Given the description of an element on the screen output the (x, y) to click on. 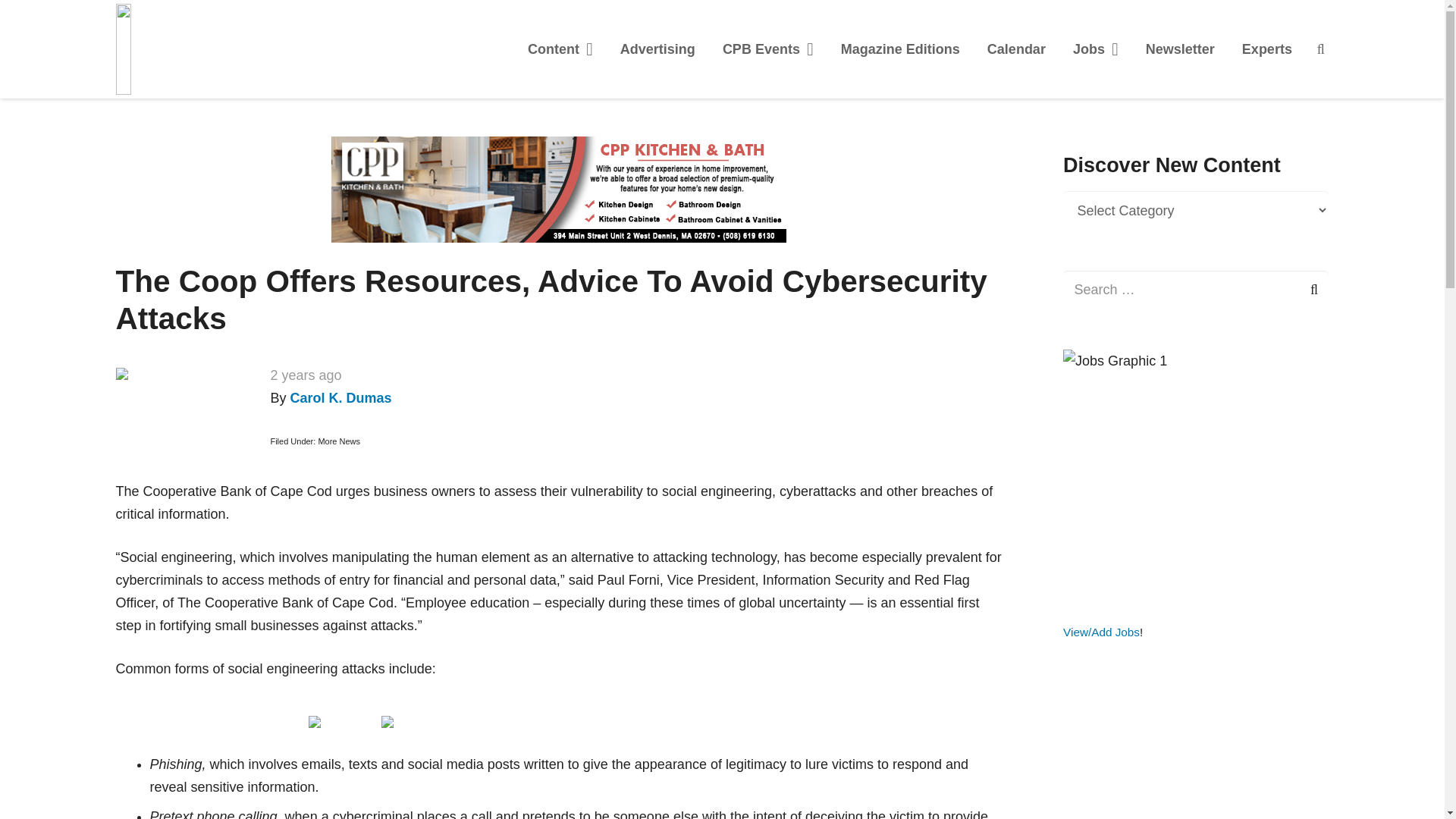
Content (560, 48)
Jobs (1095, 48)
Newsletter (1180, 48)
Calendar (1016, 48)
Magazine Editions (900, 48)
CPB Events (768, 48)
Advertising (658, 48)
Experts (1267, 48)
